Given the description of an element on the screen output the (x, y) to click on. 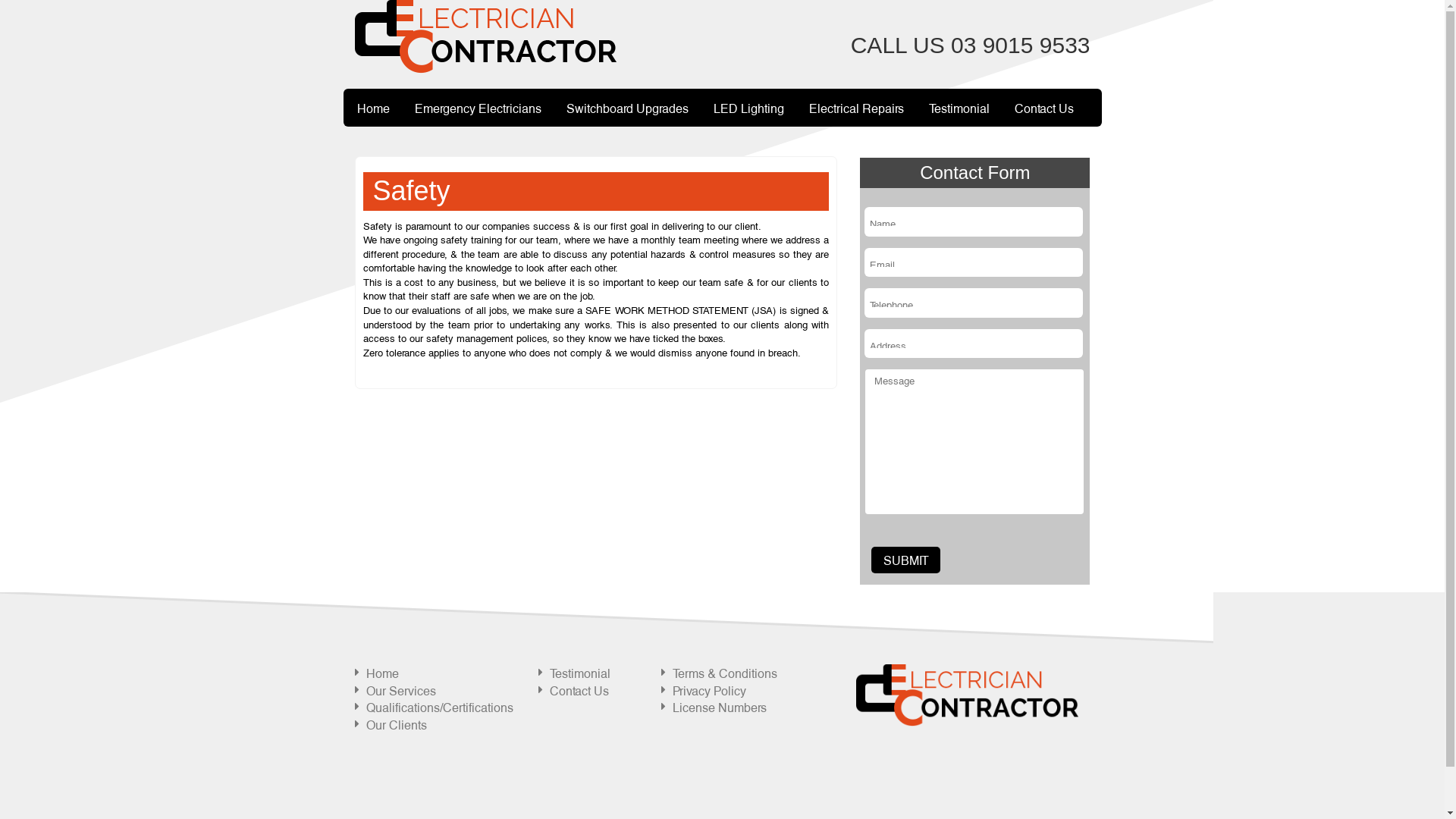
Emergency Electricians Element type: text (477, 107)
Contact Us Element type: text (1043, 107)
Contact Us Element type: text (578, 690)
Terms & Conditions Element type: text (724, 672)
Electrical Repairs Element type: text (856, 107)
Privacy Policy Element type: text (709, 690)
License Numbers Element type: text (719, 706)
Testimonial Element type: text (959, 107)
Testimonial Element type: text (579, 672)
Our Clients Element type: text (395, 724)
Qualifications/Certifications Element type: text (438, 706)
Home Element type: text (381, 672)
LED Lighting Element type: text (748, 107)
Home Element type: text (373, 107)
SUBMIT Element type: text (905, 559)
Switchboard Upgrades Element type: text (627, 107)
Our Services Element type: text (400, 690)
